Given the description of an element on the screen output the (x, y) to click on. 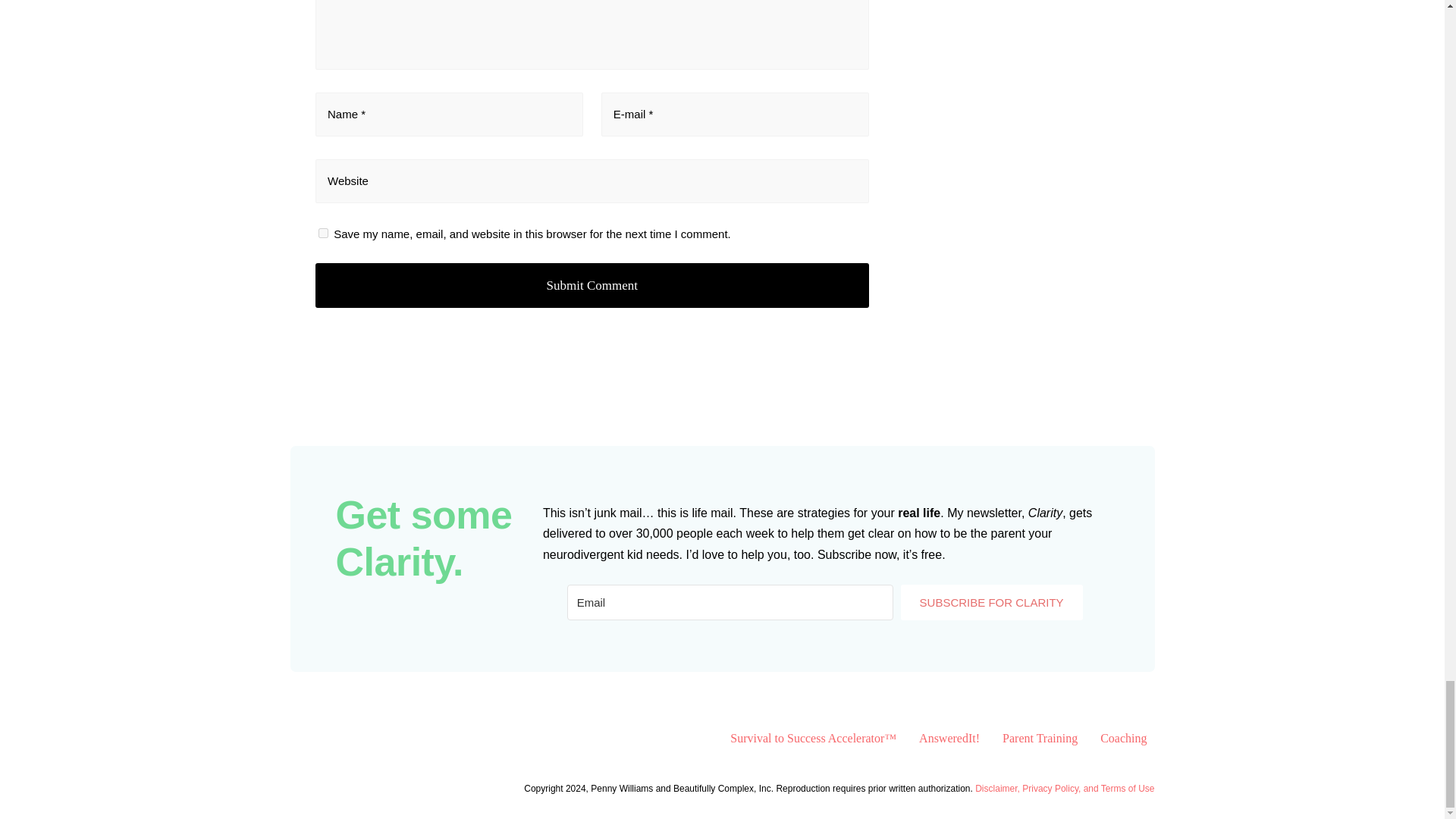
Submit Comment (592, 285)
yes (323, 233)
